Given the description of an element on the screen output the (x, y) to click on. 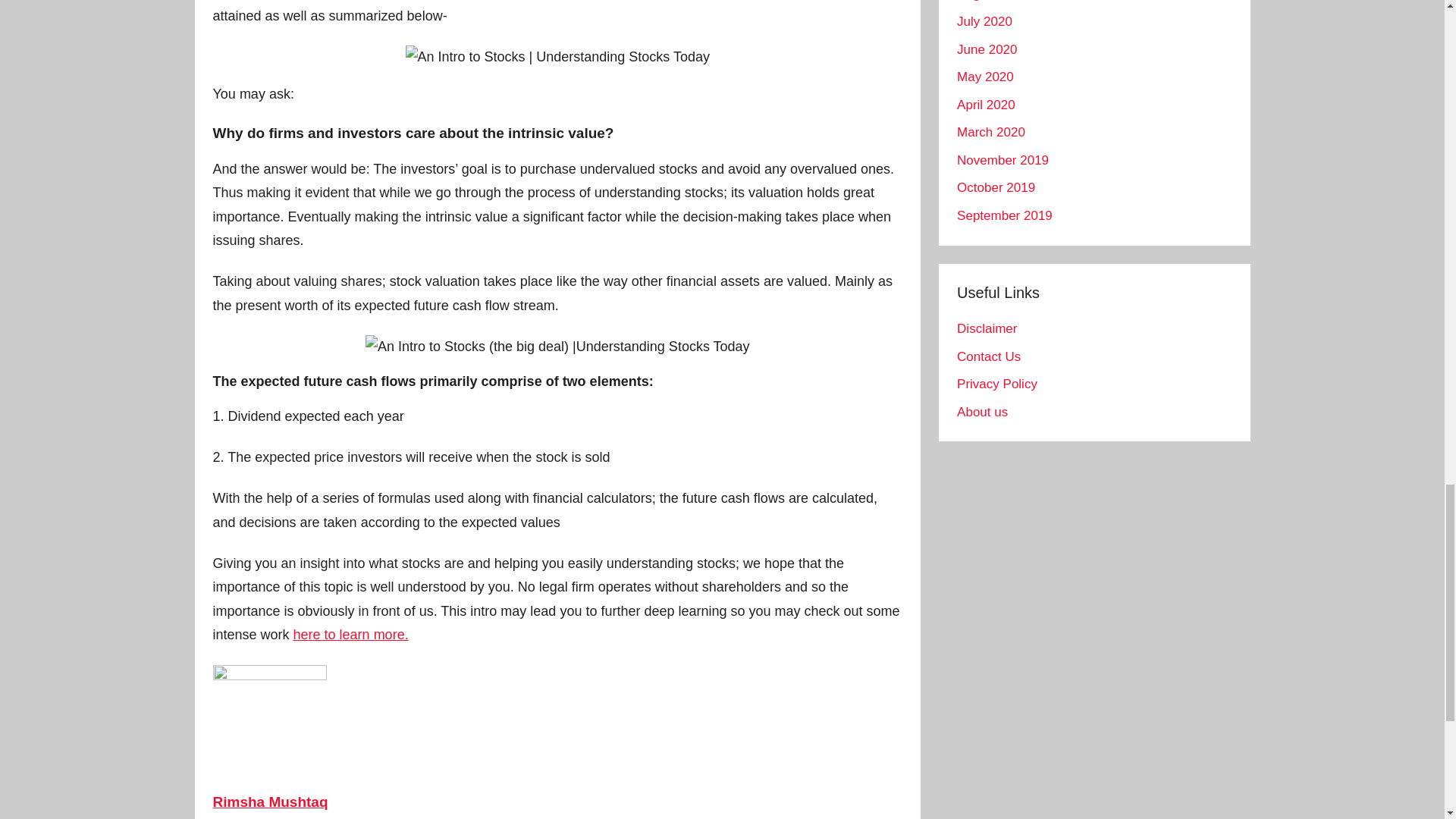
Rimsha Mushtaq (269, 801)
here to learn more. (351, 634)
